Given the description of an element on the screen output the (x, y) to click on. 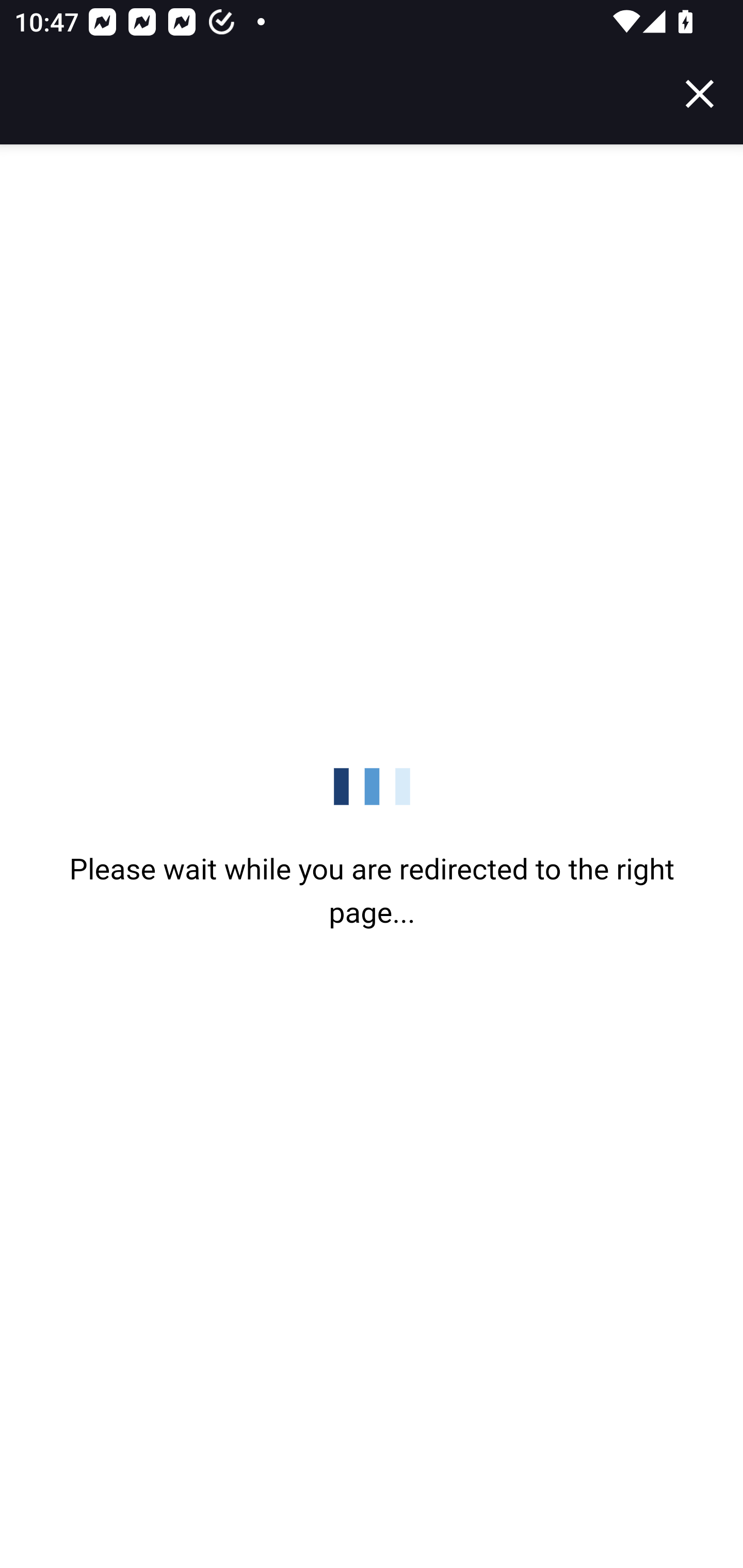
Close (699, 93)
